Given the description of an element on the screen output the (x, y) to click on. 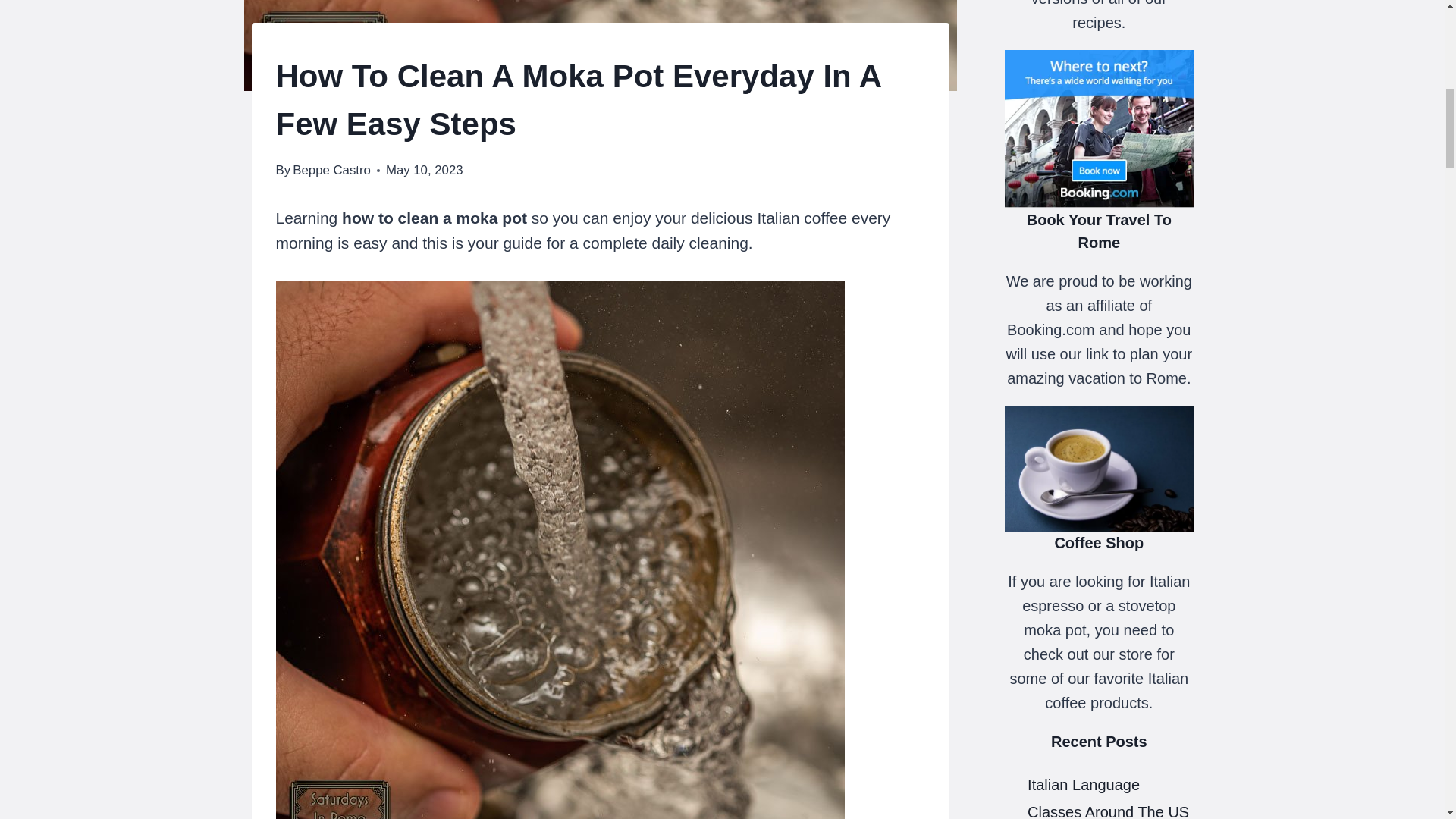
Beppe Castro (331, 169)
